Given the description of an element on the screen output the (x, y) to click on. 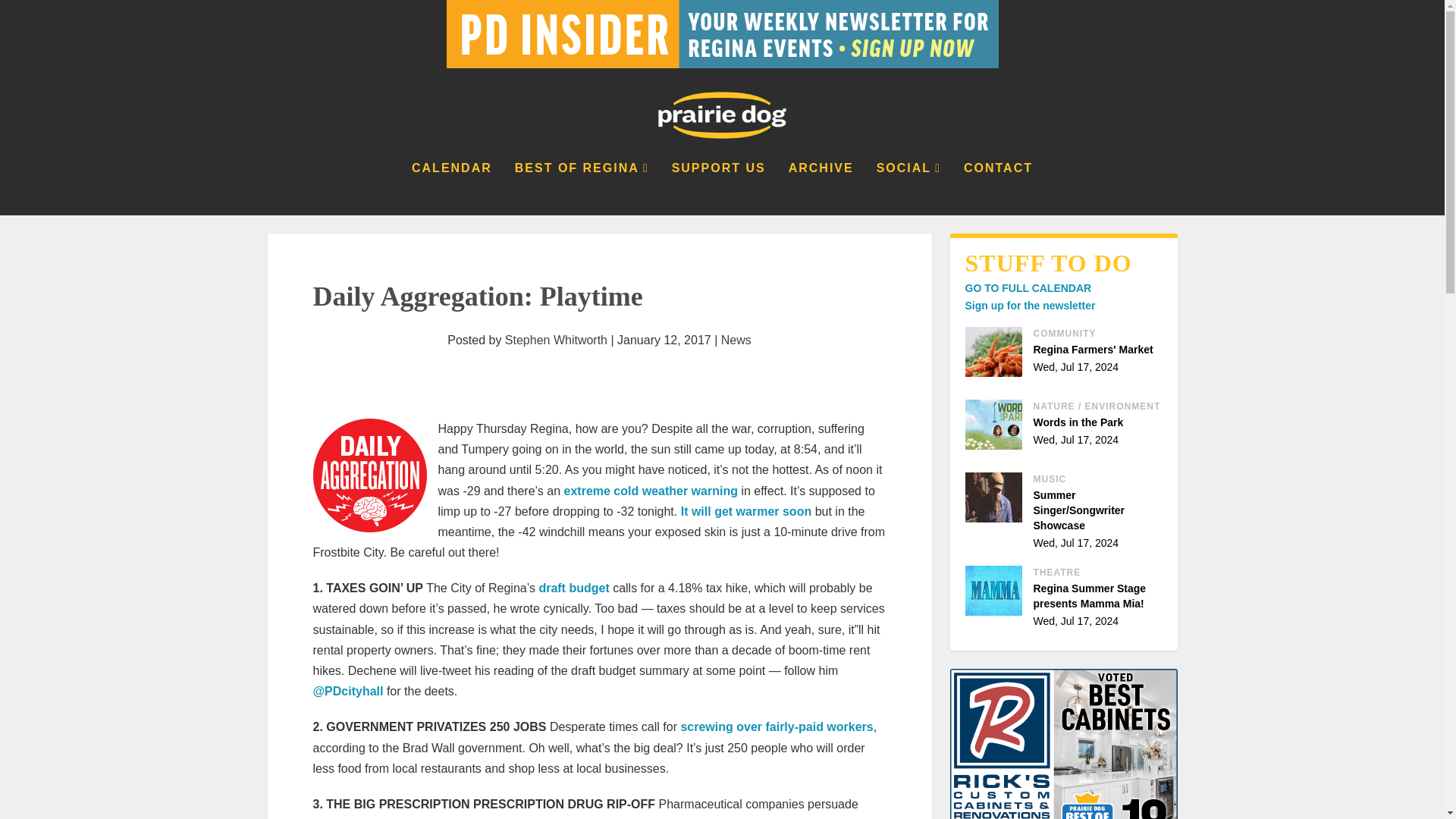
extreme cold weather warning (651, 490)
ARCHIVE (821, 188)
It will get warmer soon (745, 511)
News (735, 339)
BEST OF REGINA (582, 188)
draft budget (573, 587)
Posts by Stephen Whitworth (556, 339)
screwing over fairly-paid workers (775, 726)
CALENDAR (452, 188)
SUPPORT US (718, 188)
Stephen Whitworth (556, 339)
CONTACT (997, 188)
SOCIAL (908, 188)
